Given the description of an element on the screen output the (x, y) to click on. 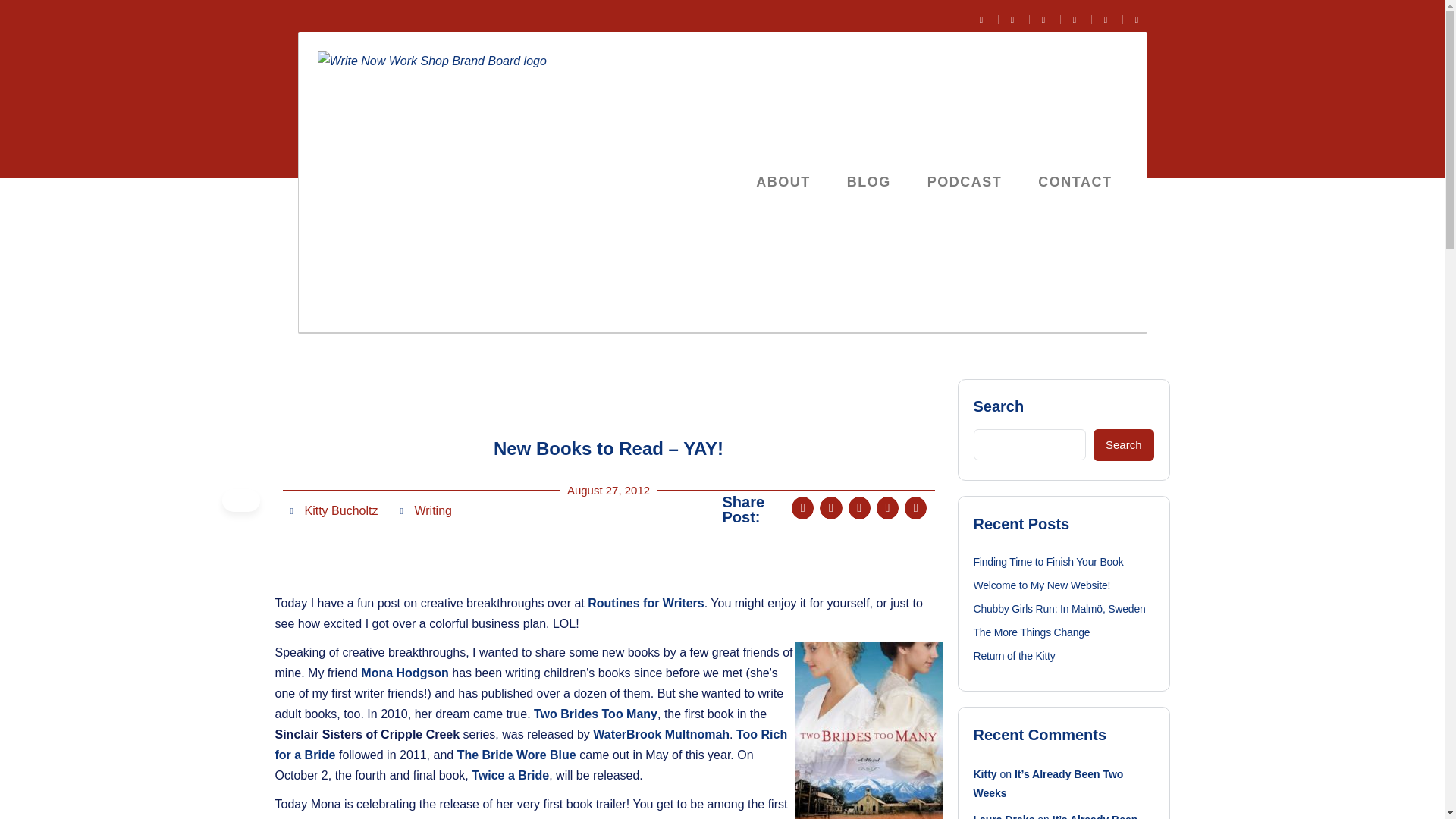
CONTACT (1074, 181)
Mona's web site (404, 672)
BLOG (868, 181)
Writing (432, 510)
Routines for Writers (646, 603)
Too Rich for a Bride (531, 744)
WaterBrook Multnomah (660, 734)
Twice a Bride (509, 775)
Two Brides Too Many (596, 713)
ABOUT (783, 181)
